Given the description of an element on the screen output the (x, y) to click on. 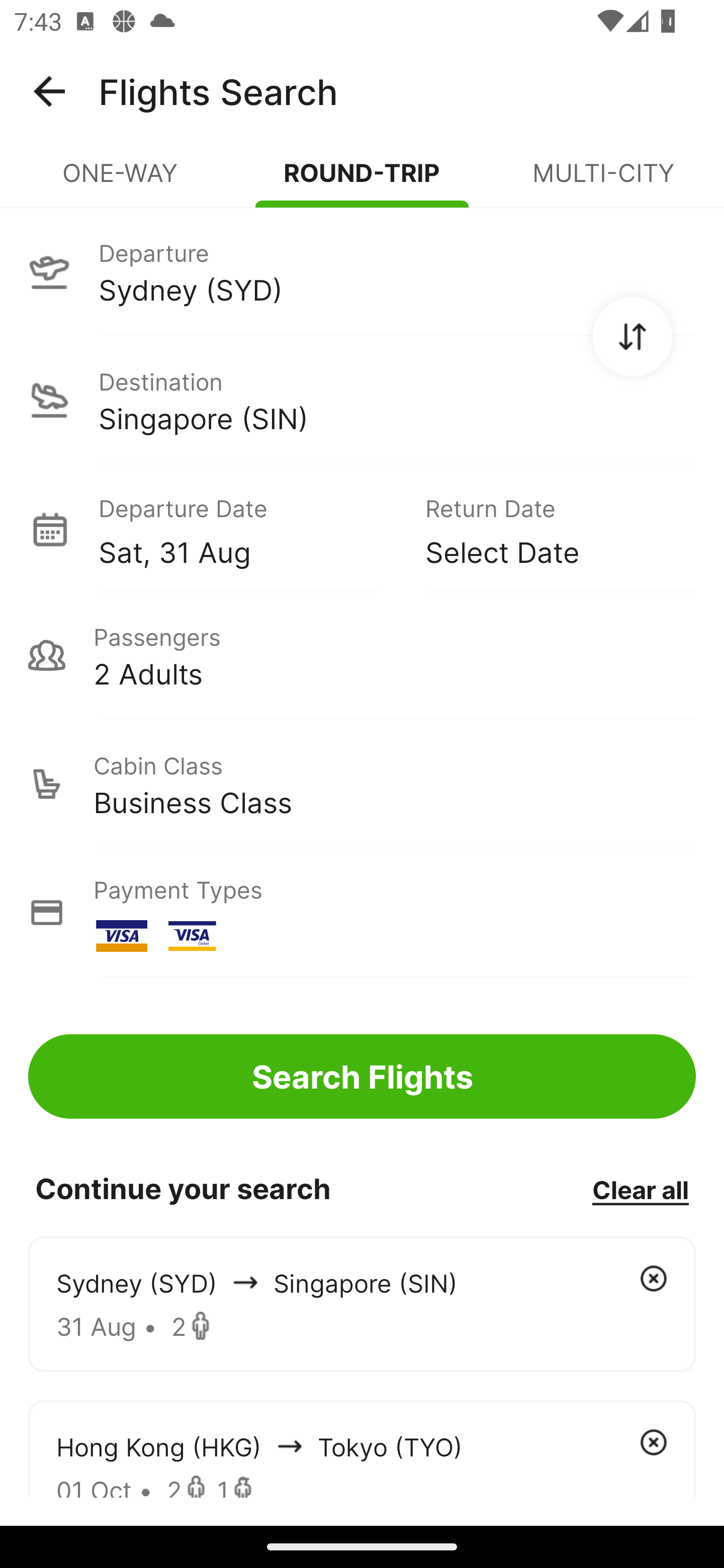
ONE-WAY (120, 180)
ROUND-TRIP (361, 180)
MULTI-CITY (603, 180)
Departure Sydney (SYD) (362, 270)
Destination Singapore (SIN) (362, 400)
Departure Date Sat, 31 Aug (247, 528)
Return Date Select Date (546, 528)
Passengers 2 Adults (362, 655)
Cabin Class Business Class (362, 783)
Payment Types (362, 912)
Search Flights (361, 1075)
Clear all (640, 1189)
